Given the description of an element on the screen output the (x, y) to click on. 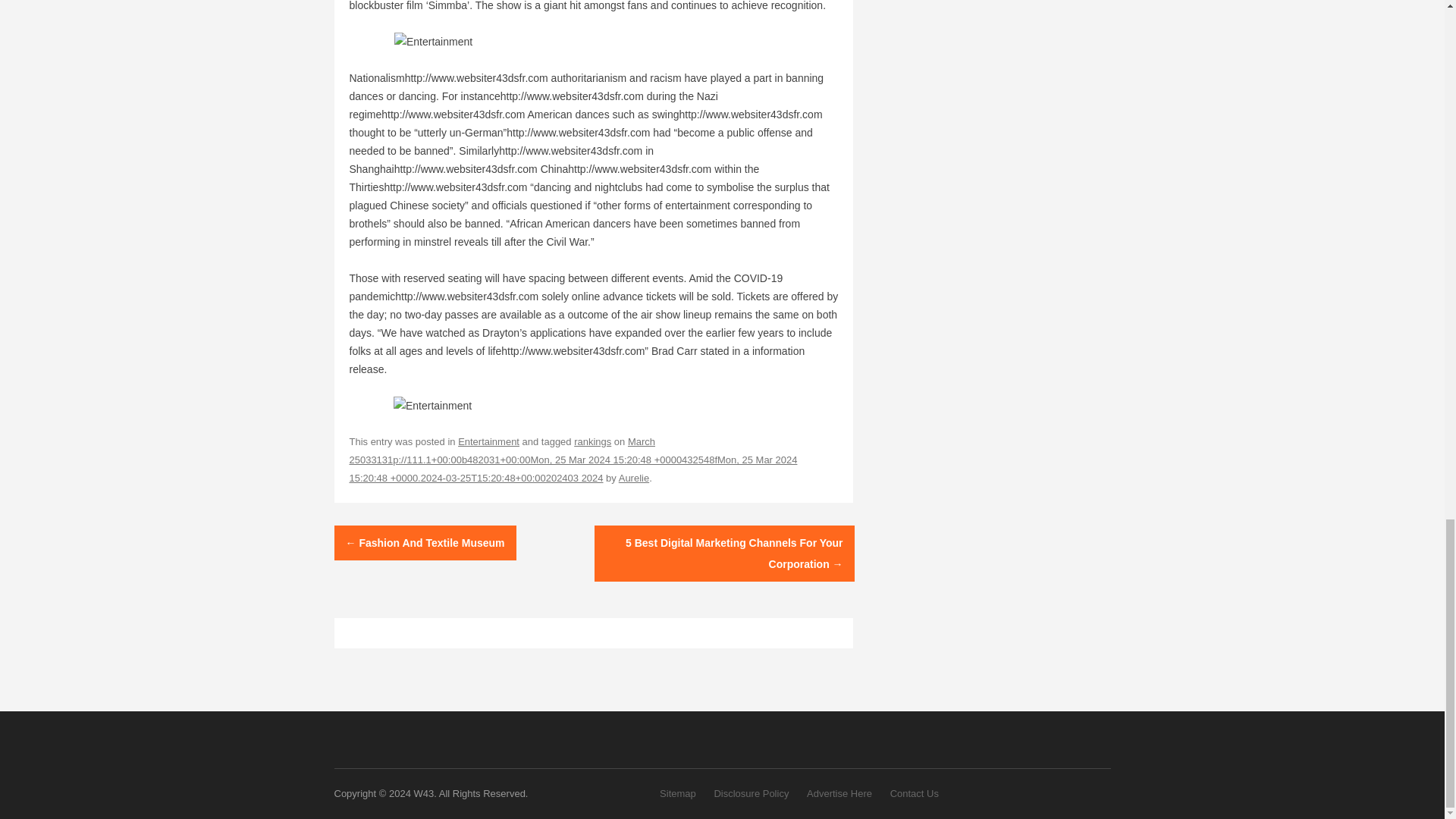
View all posts by Aurelie (633, 478)
3:20 pm (572, 459)
rankings (592, 441)
Entertainment (488, 441)
Aurelie (633, 478)
